Given the description of an element on the screen output the (x, y) to click on. 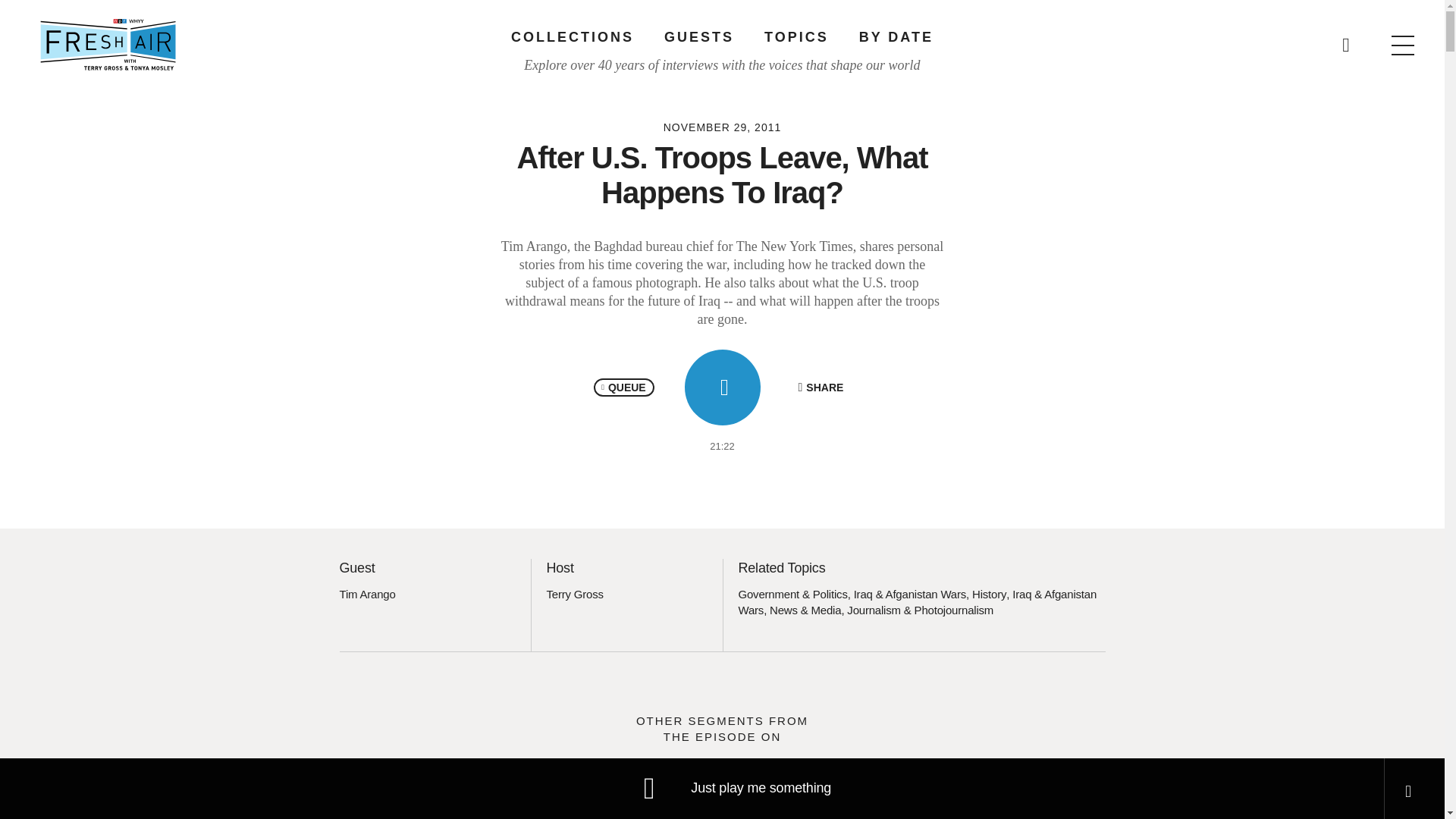
COLLECTIONS (572, 36)
TOPICS (796, 36)
Tim Arango (367, 594)
QUEUE (622, 387)
Search (964, 37)
Home (108, 44)
Terry Gross (574, 594)
BY DATE (896, 36)
GUESTS (698, 36)
SHARE (820, 387)
